Given the description of an element on the screen output the (x, y) to click on. 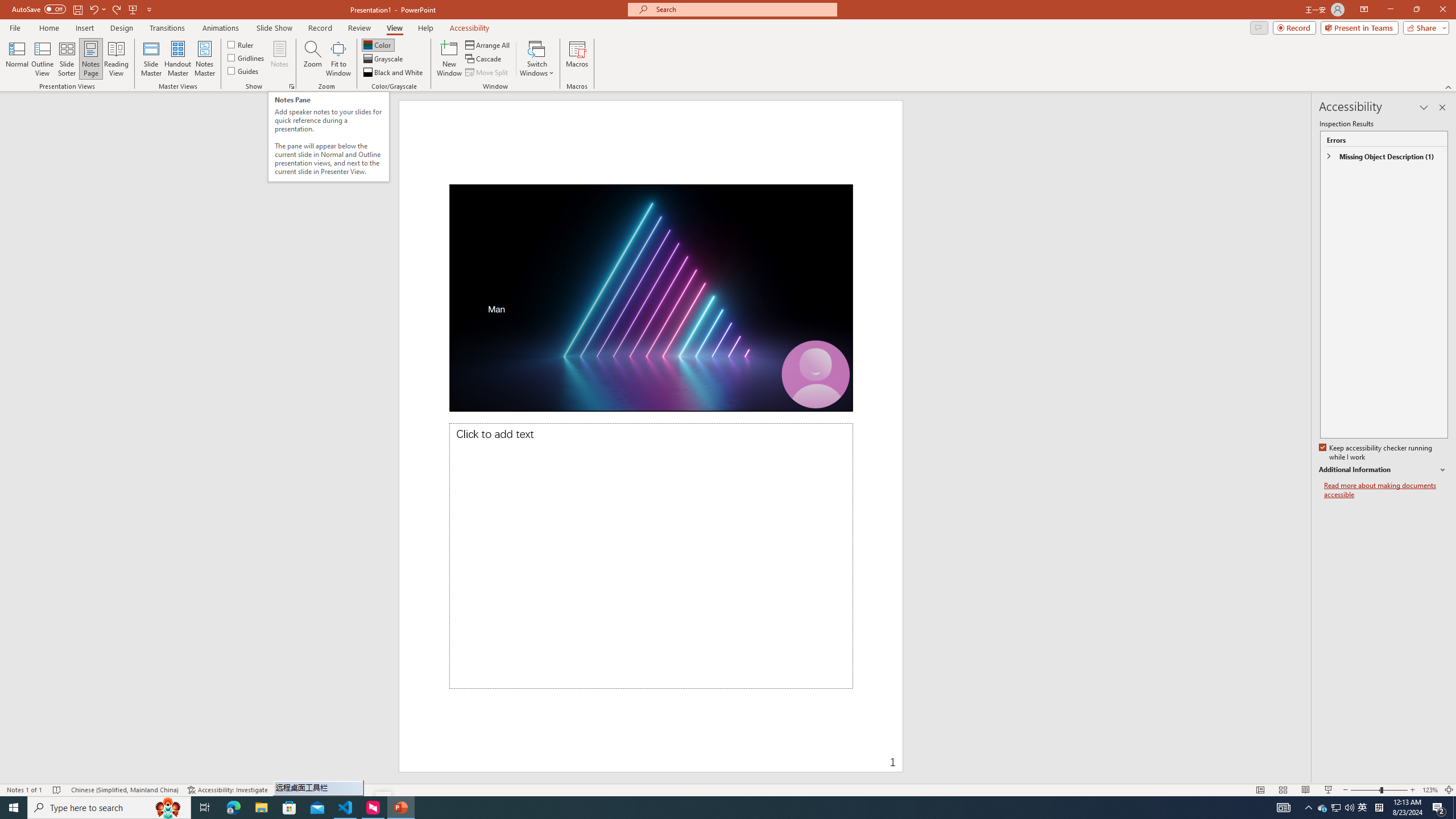
Ruler (241, 44)
Outline View (42, 58)
Notes (279, 58)
